Given the description of an element on the screen output the (x, y) to click on. 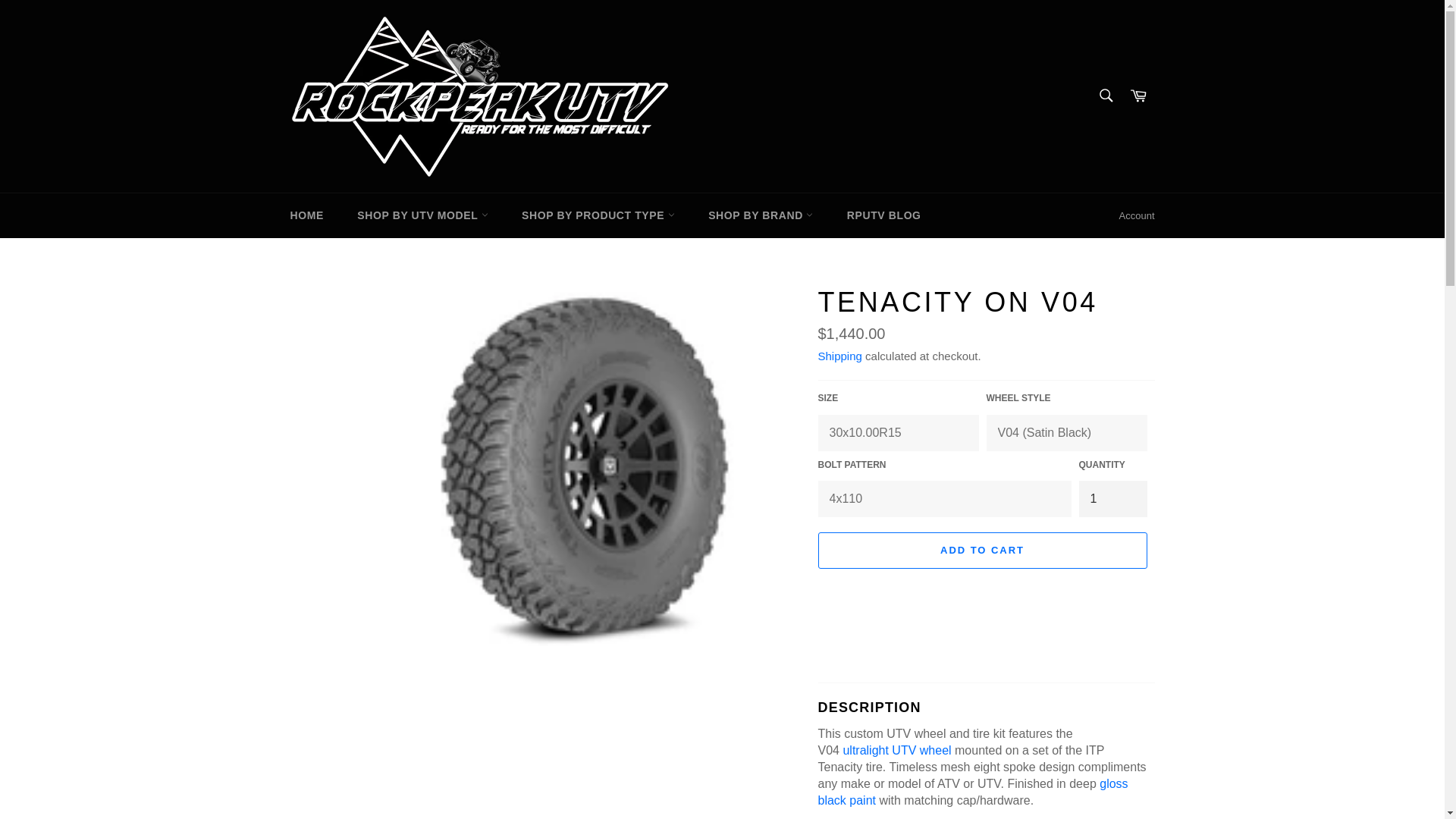
1 (1112, 498)
Ultralight utv wheels lightweight atv utv sxs (896, 749)
gloss black utv wheels and accessories (971, 791)
